Given the description of an element on the screen output the (x, y) to click on. 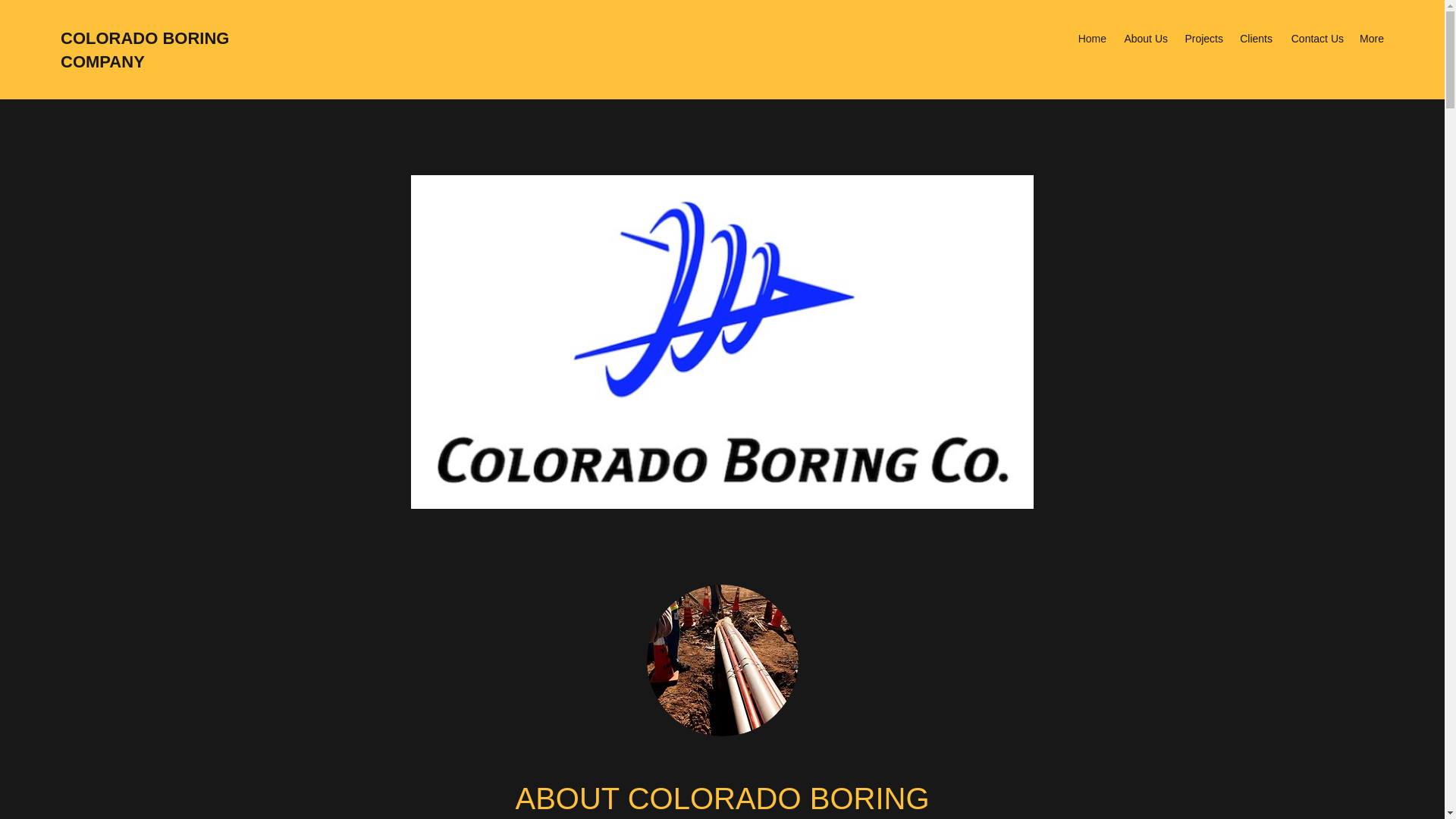
Projects (1202, 38)
Home (1090, 38)
COLORADO BORING COMPANY (144, 49)
Clients (1254, 38)
About Us (1143, 38)
Contact Us (1315, 38)
